Given the description of an element on the screen output the (x, y) to click on. 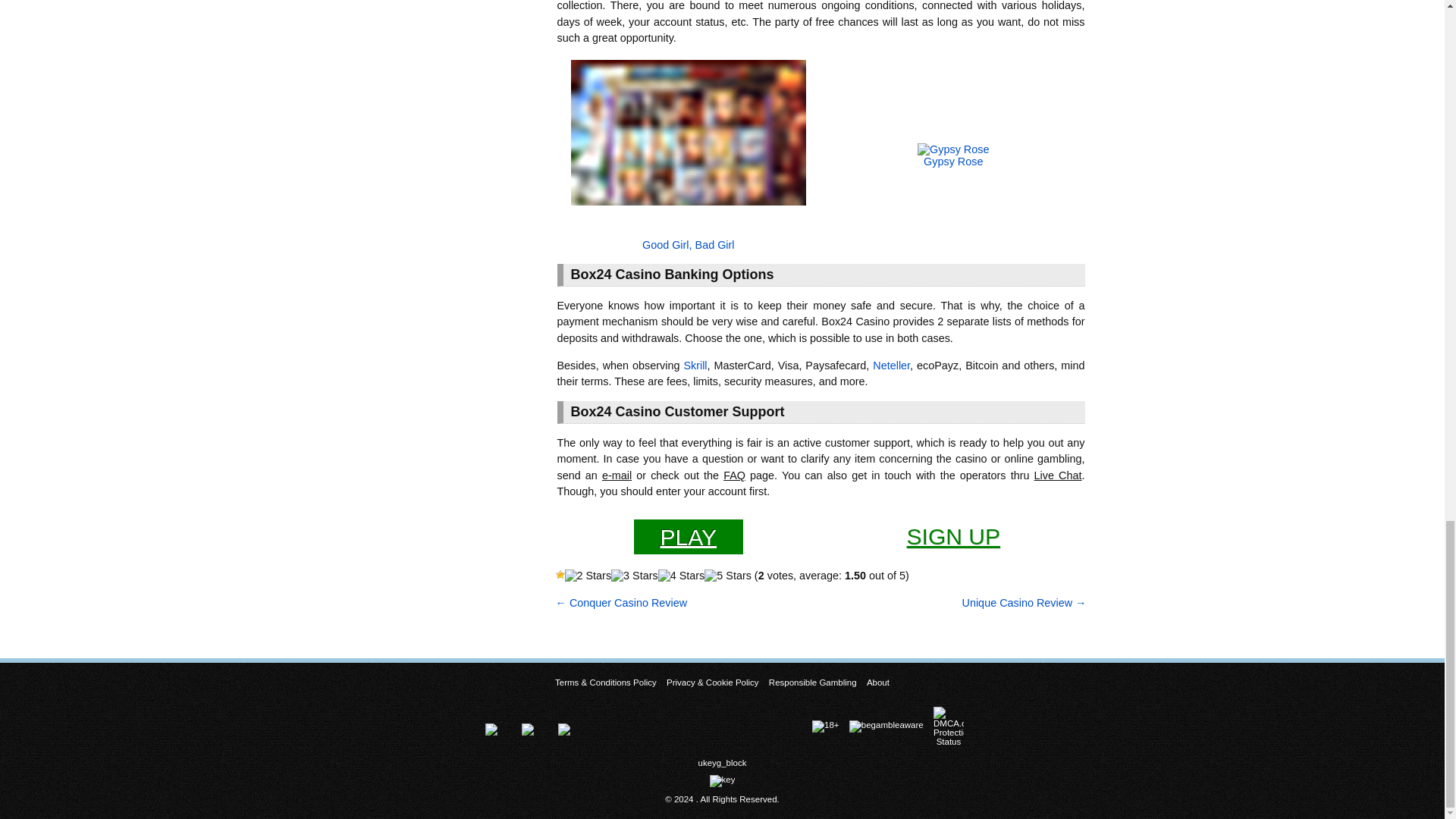
5 Stars (727, 575)
DMCA.com Protection Status (952, 726)
2 Stars (587, 575)
4 Stars (681, 575)
3 Stars (634, 575)
1 Star (559, 574)
